Given the description of an element on the screen output the (x, y) to click on. 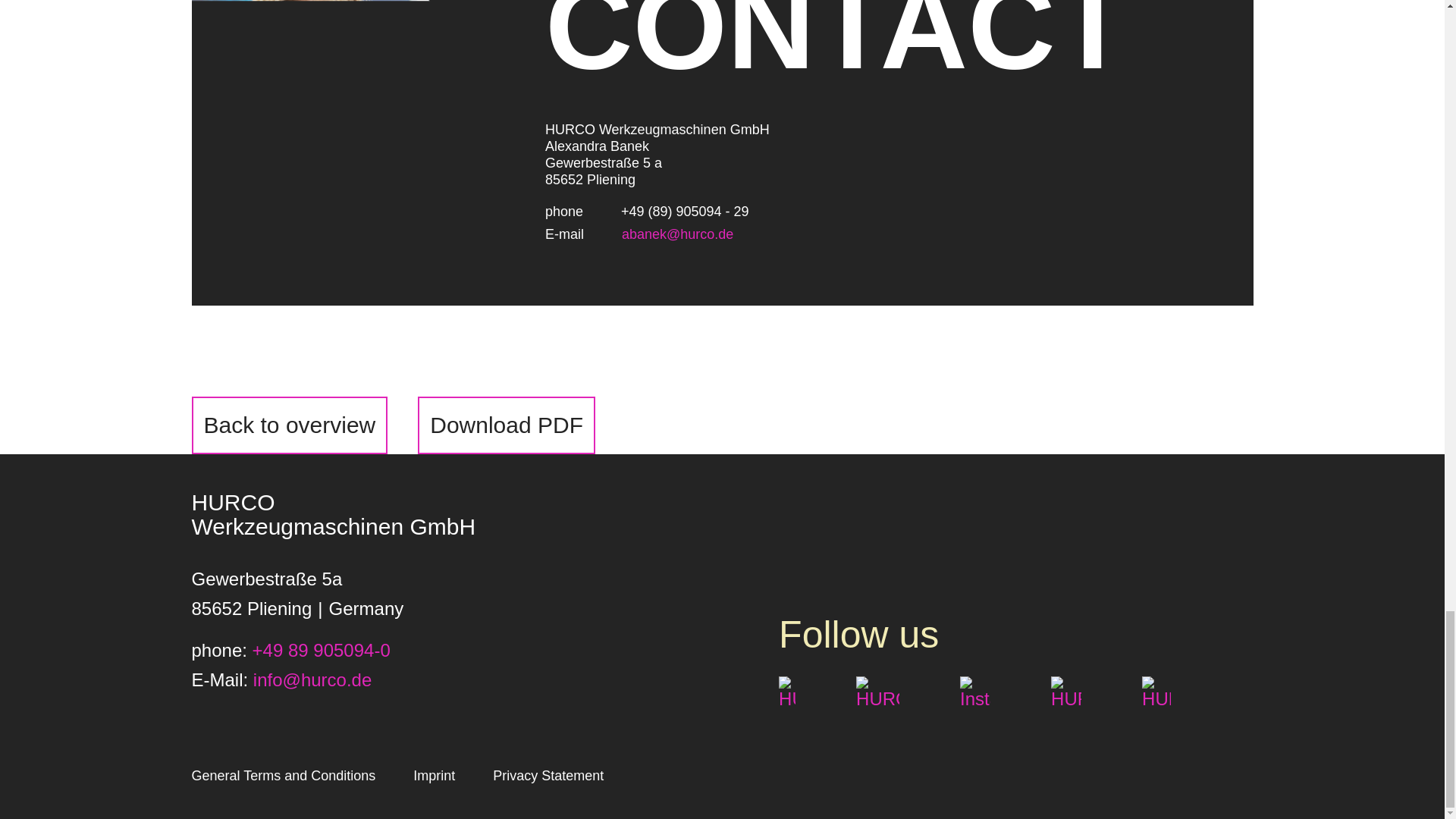
HURCO bei LinkedIn (1066, 691)
HURCO at Industriearena (1155, 691)
Instagram (974, 691)
HURCO Germany YouTube channel (877, 691)
